Given the description of an element on the screen output the (x, y) to click on. 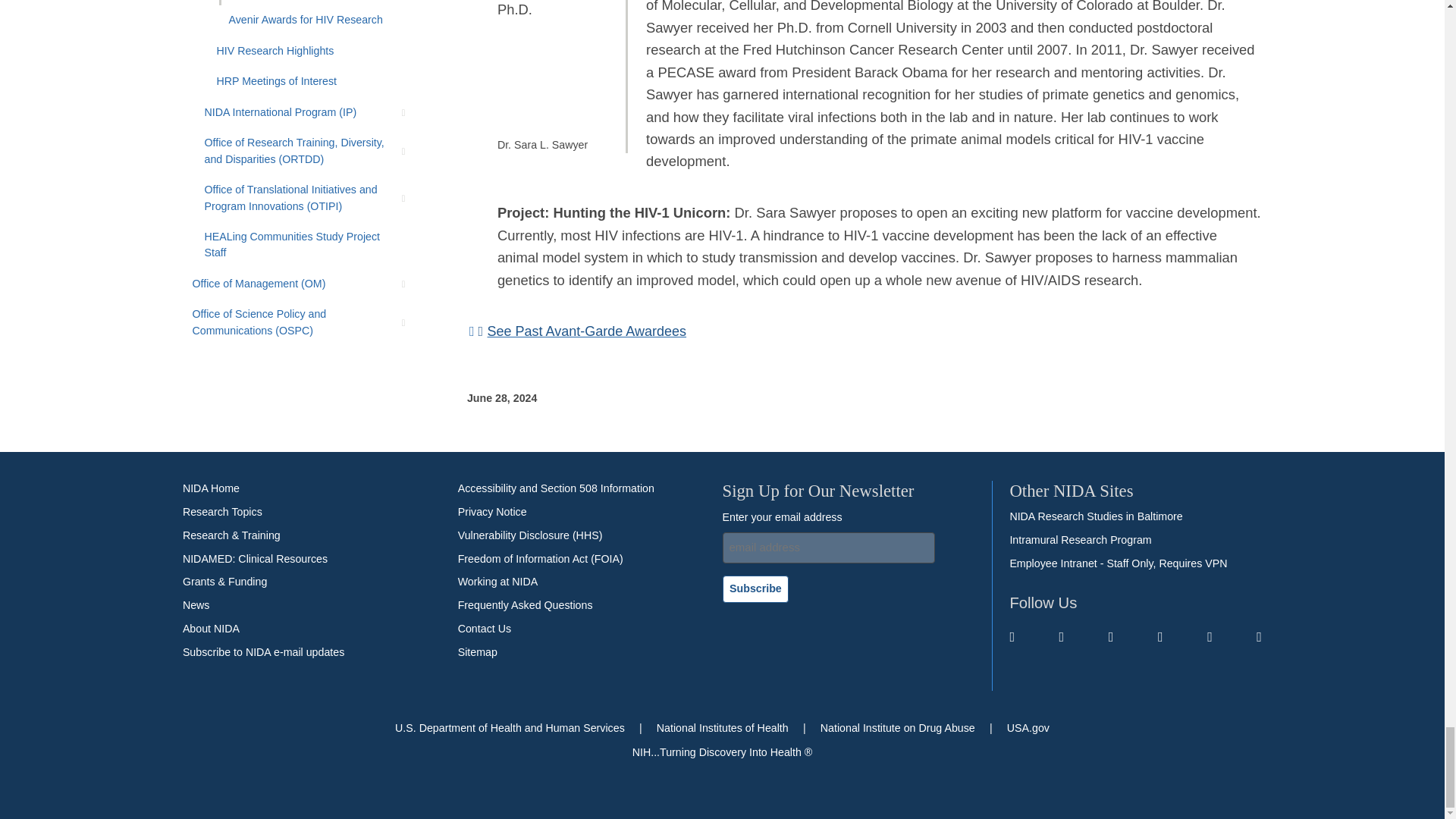
Frequently Asked Questions (525, 605)
Contact Us (484, 629)
Working at NIDA (498, 582)
Privacy Notice (492, 512)
Subscribe (755, 588)
Subscribe (263, 652)
